Given the description of an element on the screen output the (x, y) to click on. 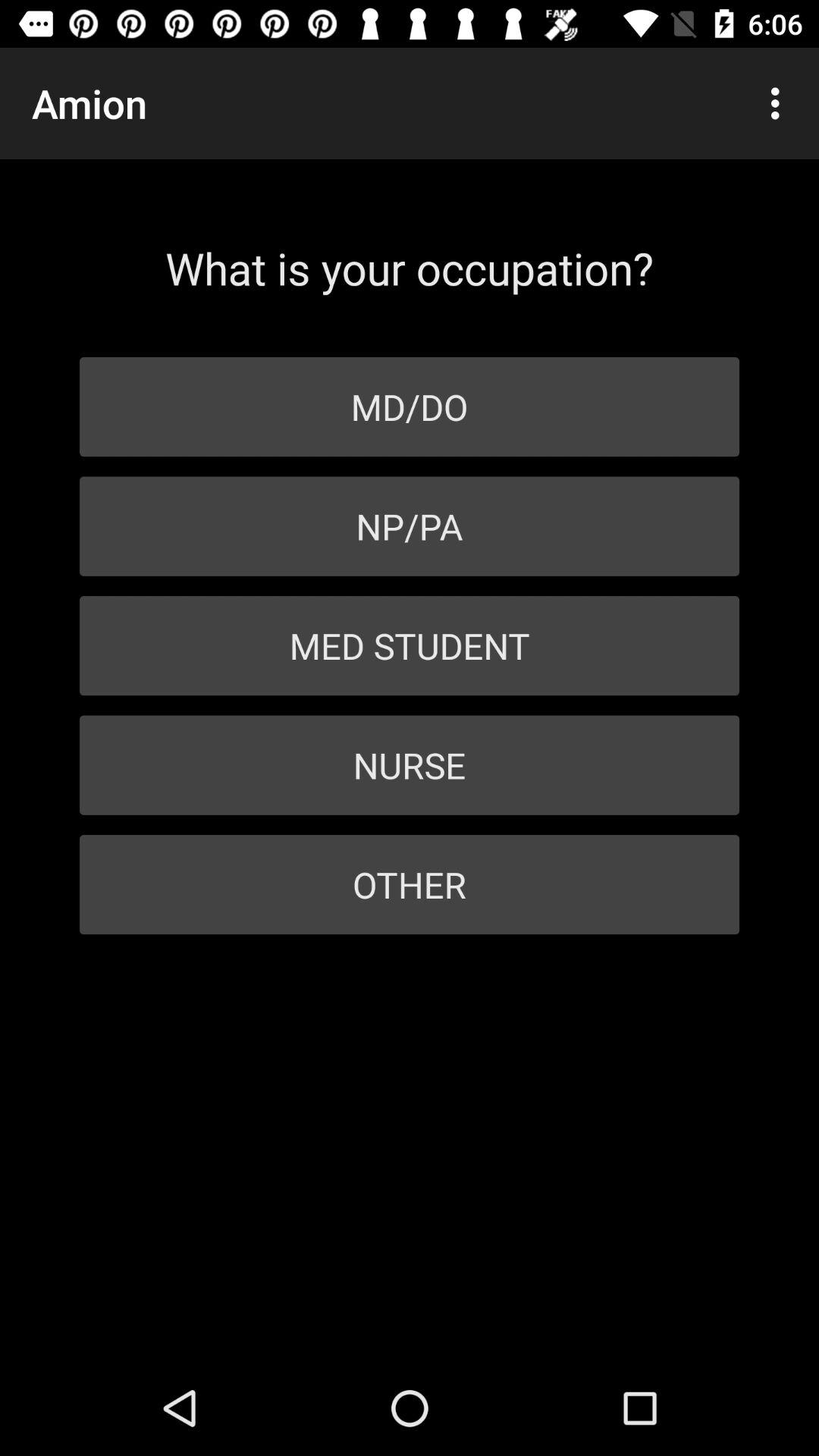
turn off the item below the md/do (409, 526)
